Given the description of an element on the screen output the (x, y) to click on. 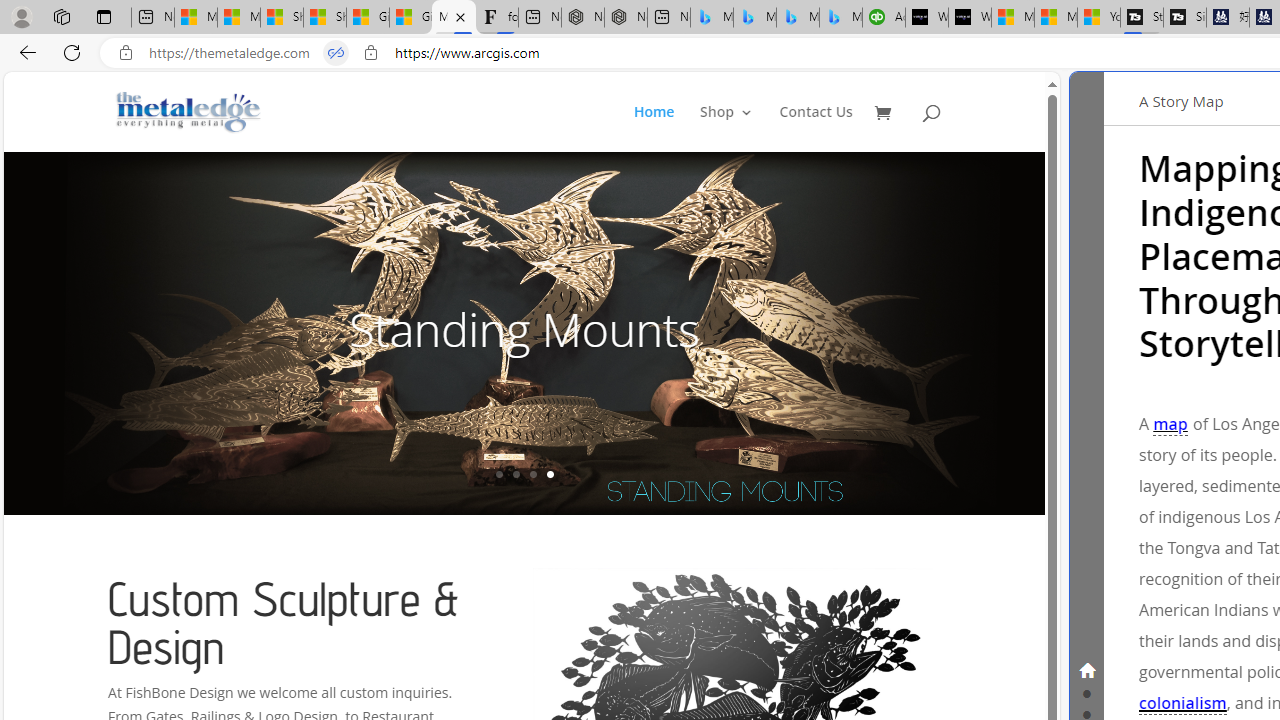
1 (499, 474)
Go to section 2: Mapping Indigenous LA  (1086, 691)
Microsoft Start (1055, 17)
Shanghai, China weather forecast | Microsoft Weather (324, 17)
Nordace - #1 Japanese Best-Seller - Siena Smart Backpack (625, 17)
3 (532, 474)
Accounting Software for Accountants, CPAs and Bookkeepers (883, 17)
4 (550, 474)
Microsoft Bing Travel - Shangri-La Hotel Bangkok (840, 17)
New tab (668, 17)
